Given the description of an element on the screen output the (x, y) to click on. 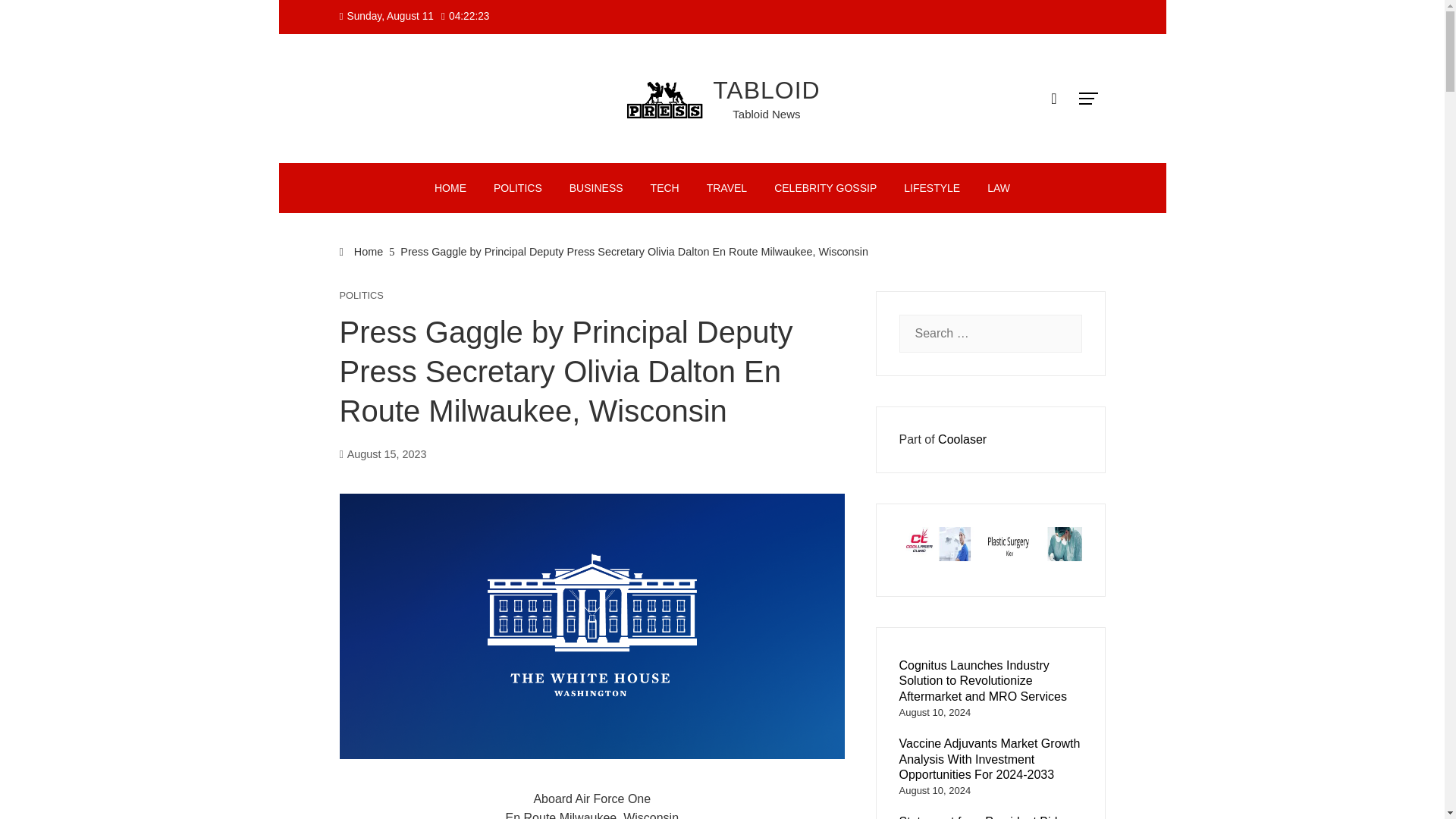
LIFESTYLE (931, 187)
HOME (450, 187)
Home (361, 251)
Tabloid News (765, 113)
TRAVEL (726, 187)
POLITICS (361, 296)
TECH (664, 187)
CELEBRITY GOSSIP (825, 187)
TABLOID (767, 89)
